Given the description of an element on the screen output the (x, y) to click on. 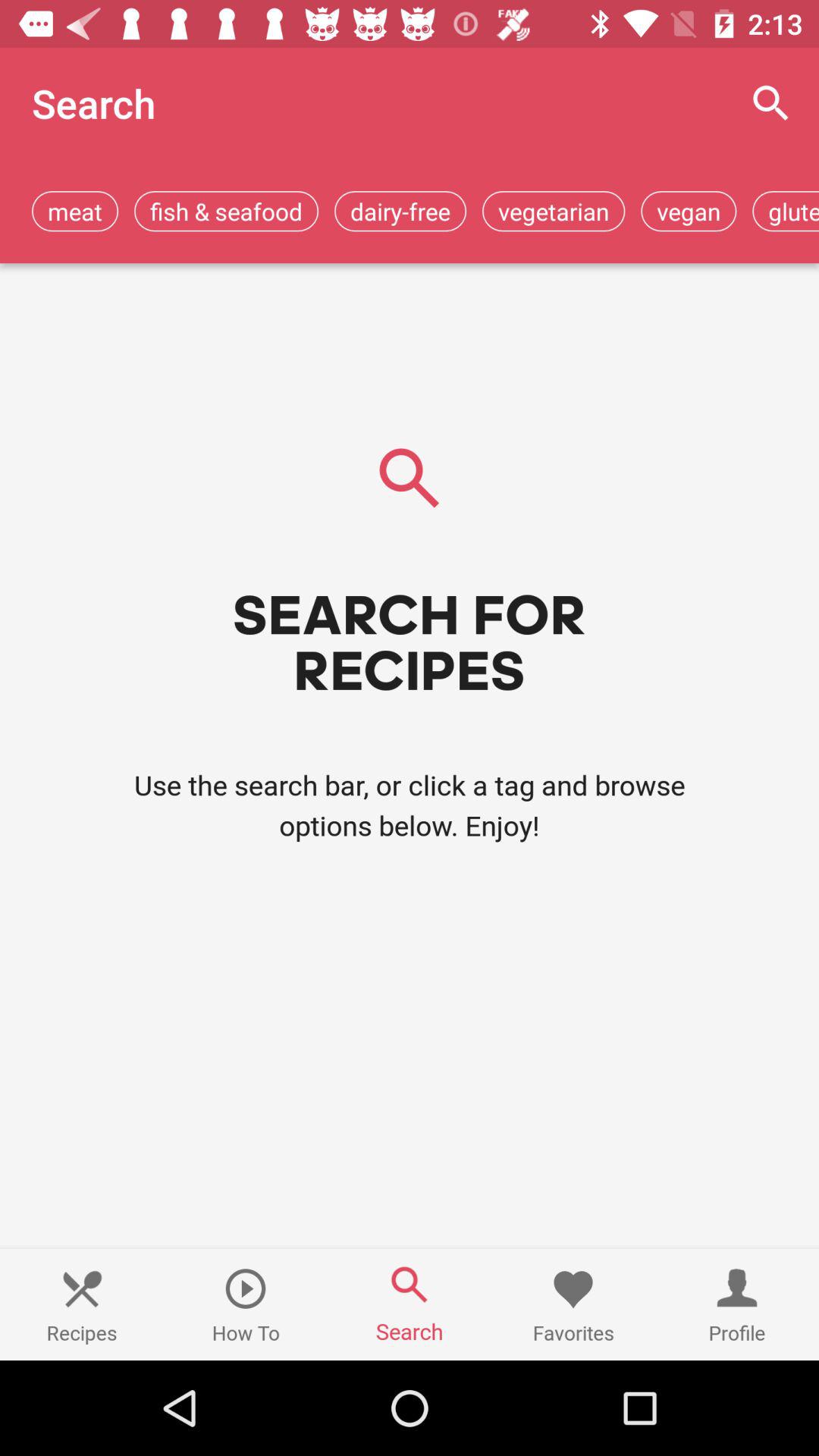
tap item next to the fish & seafood item (400, 211)
